Given the description of an element on the screen output the (x, y) to click on. 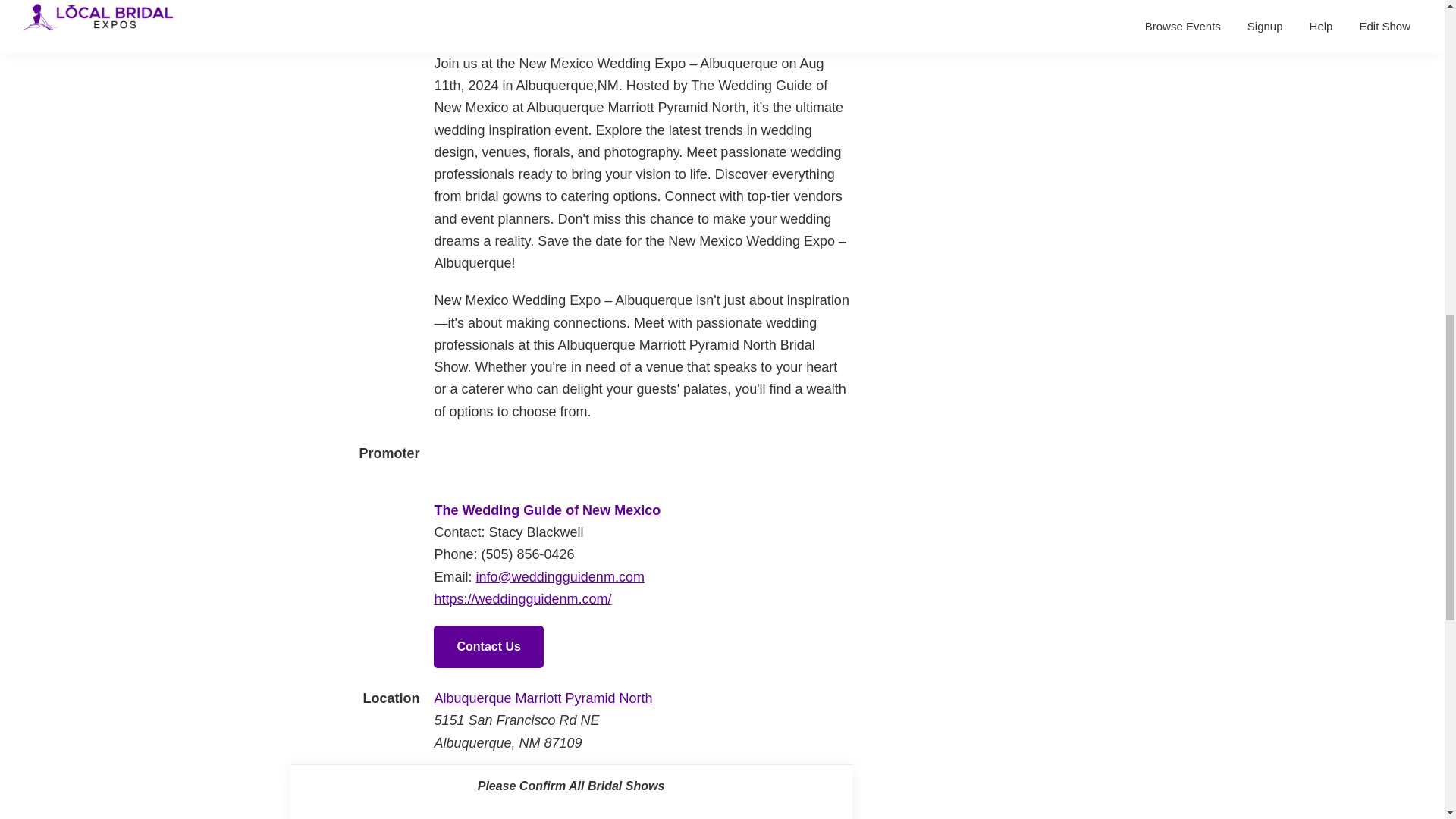
Albuquerque Marriott Pyramid North (542, 698)
The Wedding Guide of New Mexico (547, 509)
The Wedding Guide of New Mexico (547, 509)
Contact The Wedding Guide of New Mexico (488, 646)
The Wedding Guide of New Mexico (490, 453)
Map to Albuquerque Marriott Pyramid North (542, 698)
Contact Us (488, 646)
